Given the description of an element on the screen output the (x, y) to click on. 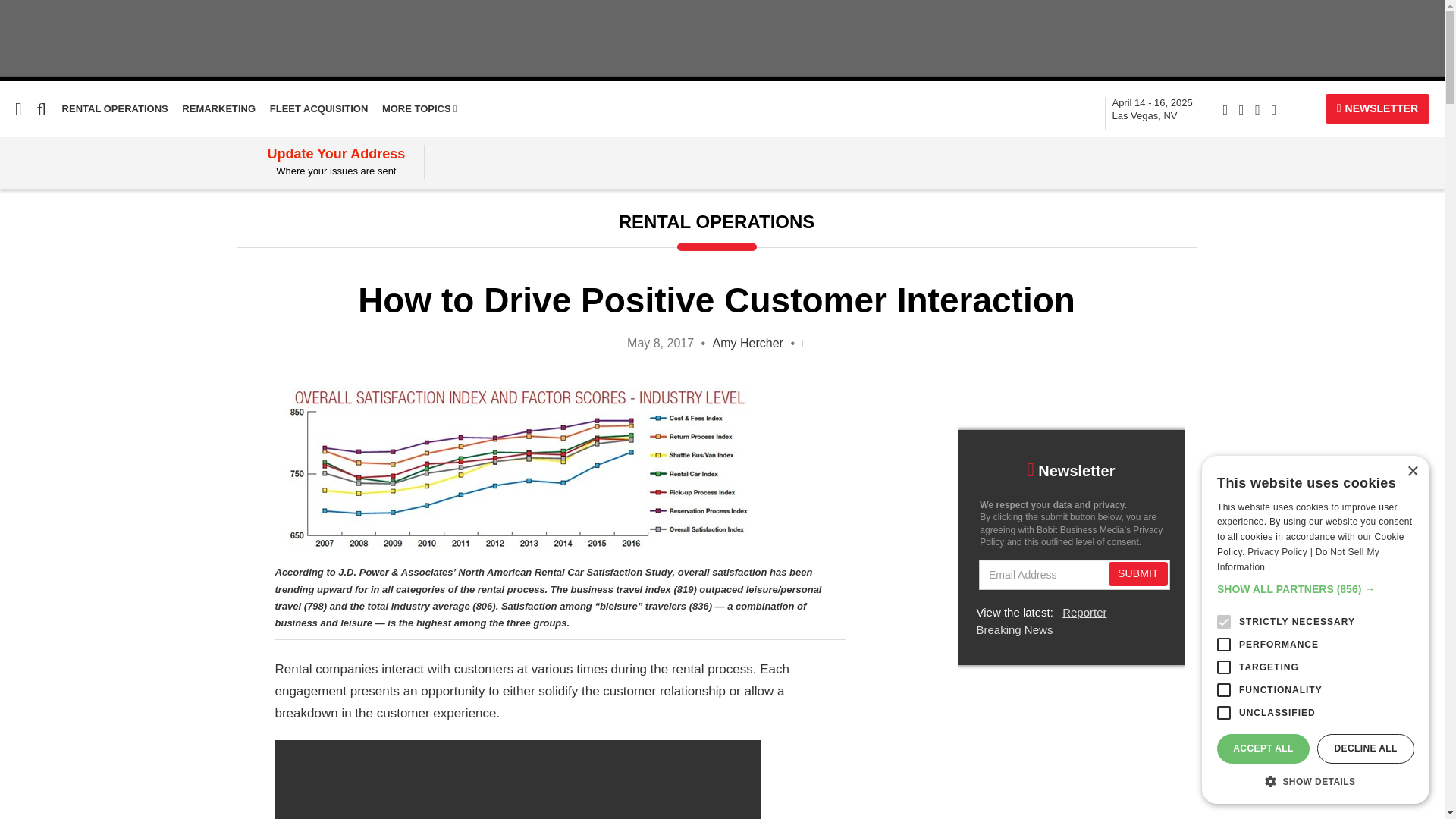
Rental Operations (115, 108)
Rental Operations (53, 293)
Home (16, 206)
Remarketing (37, 236)
Rental Operations (53, 293)
Remarketing (219, 108)
Telematics (31, 264)
REMARKETING (219, 108)
FLEET ACQUISITION (318, 108)
RENTAL OPERATIONS (115, 108)
MORE TOPICS (419, 108)
April 14 - 16, 2025 (1152, 109)
Telematics (1152, 109)
Remarketing (31, 264)
